Given the description of an element on the screen output the (x, y) to click on. 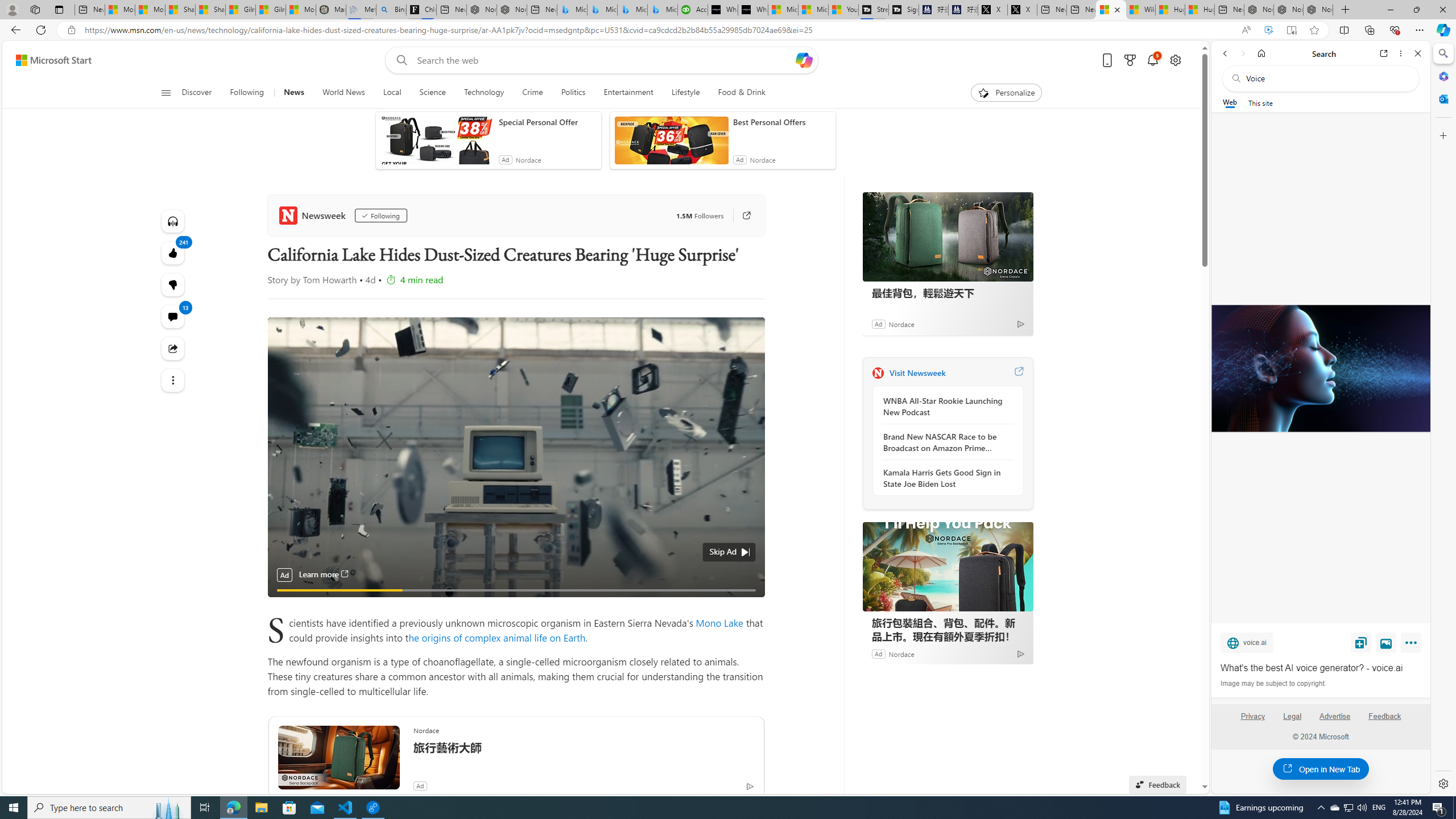
Huge shark washes ashore at New York City beach | Watch (1200, 9)
Lifestyle (685, 92)
voice.ai (1247, 642)
Open navigation menu (164, 92)
Newsweek (877, 372)
WNBA All-Star Rookie Launching New Podcast (944, 406)
Entertainment (628, 92)
World News (343, 92)
To get missing image descriptions, open the context menu. (983, 92)
Skip to content (49, 59)
video progress bar (515, 589)
Manatee Mortality Statistics | FWC (330, 9)
